Given the description of an element on the screen output the (x, y) to click on. 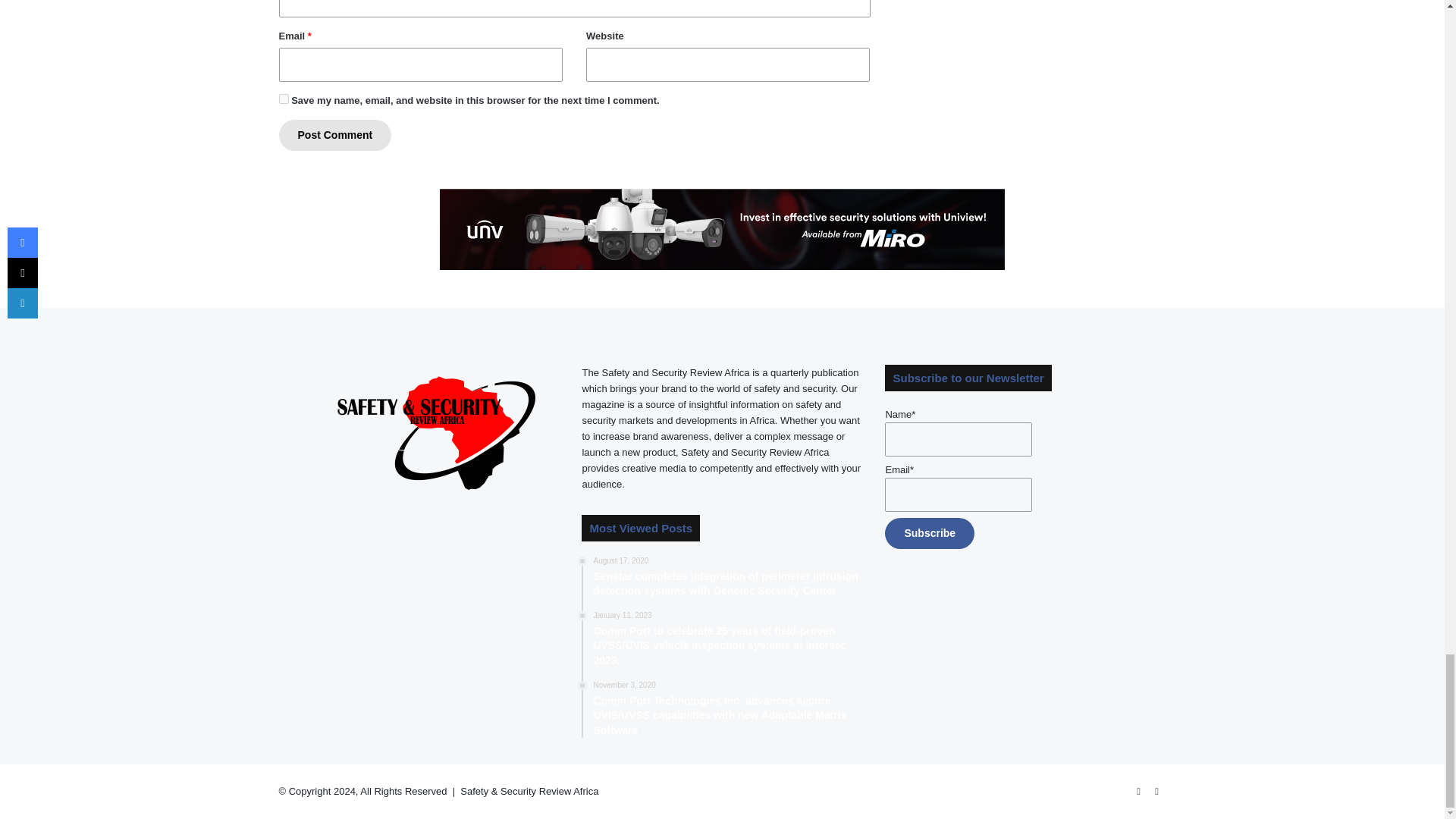
yes (283, 99)
Post Comment (335, 134)
Subscribe (929, 532)
